Given the description of an element on the screen output the (x, y) to click on. 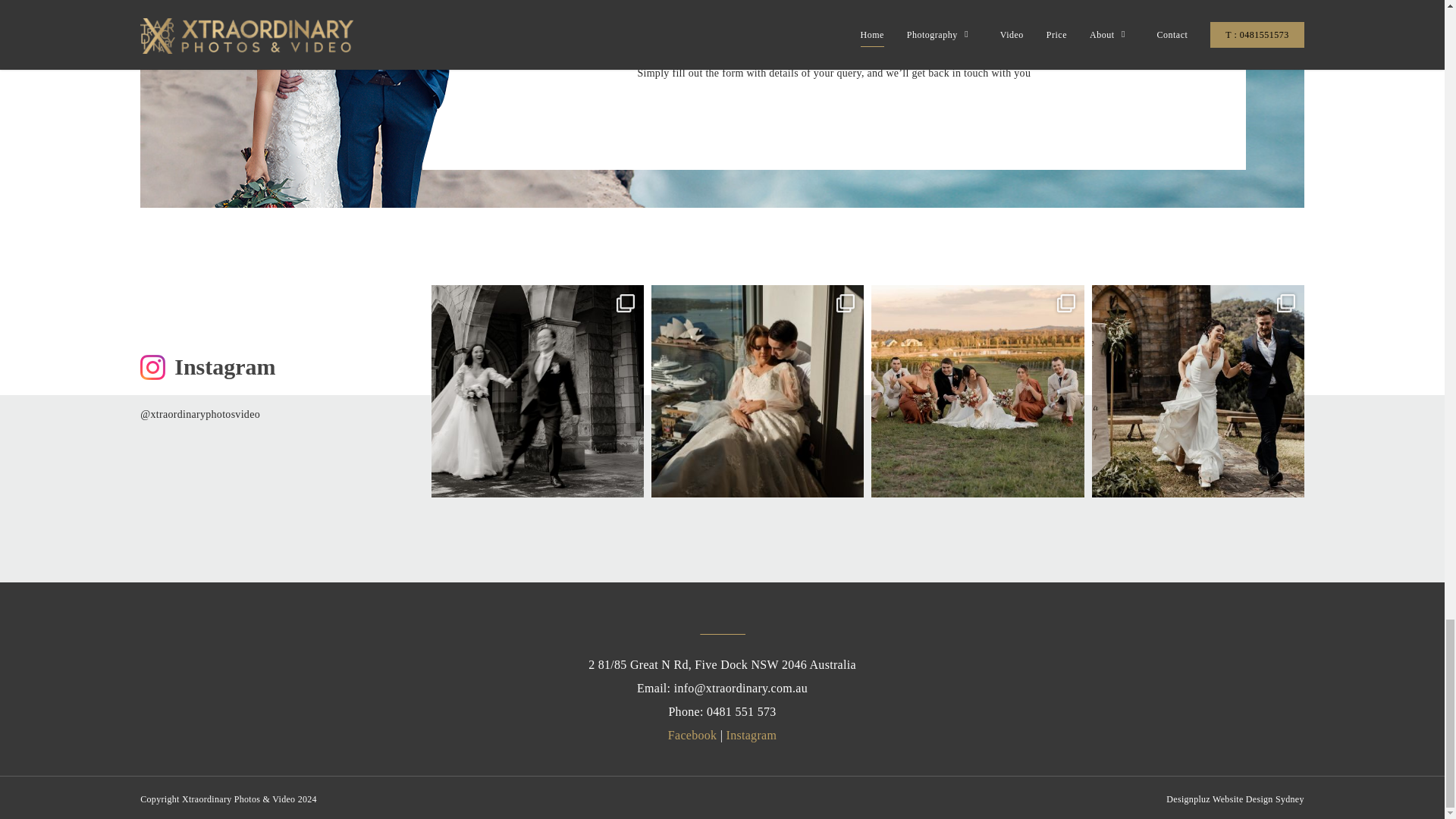
0481 551 573 (741, 711)
Instagram (751, 735)
Designpluz Website Design Sydney (1234, 798)
Facebook (692, 735)
